Given the description of an element on the screen output the (x, y) to click on. 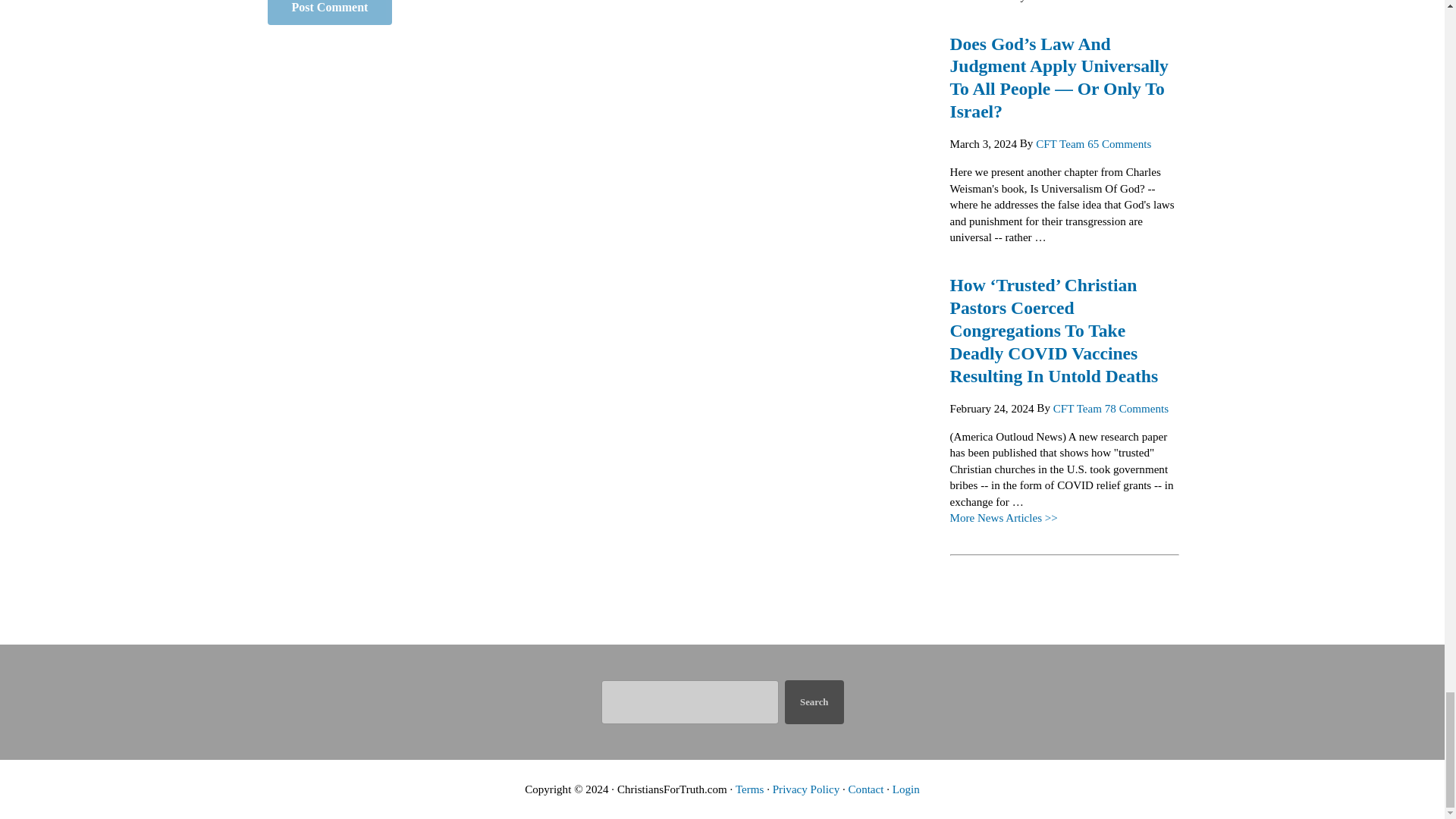
Post Comment (328, 12)
